Given the description of an element on the screen output the (x, y) to click on. 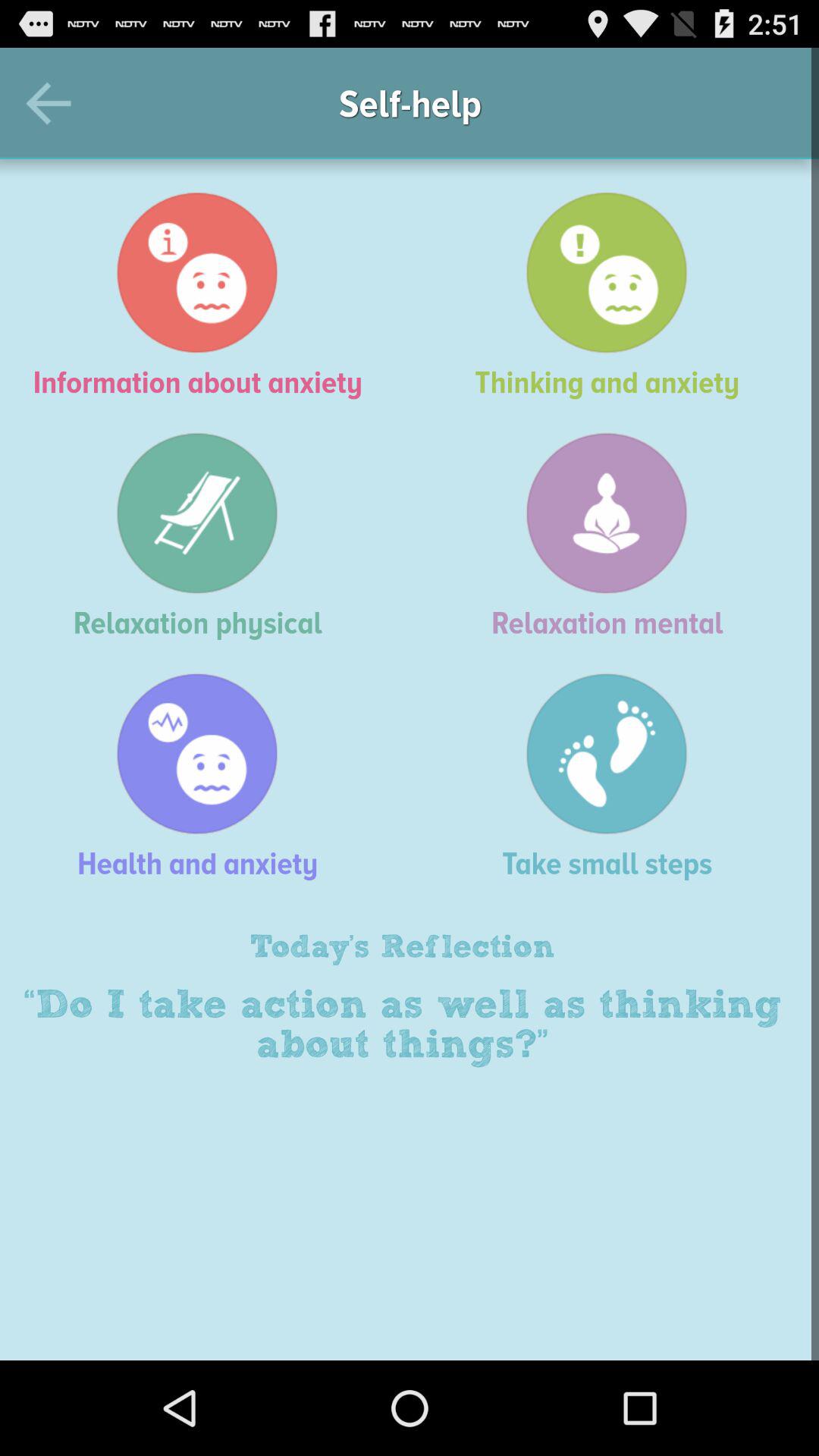
scroll to the take small steps item (614, 776)
